Given the description of an element on the screen output the (x, y) to click on. 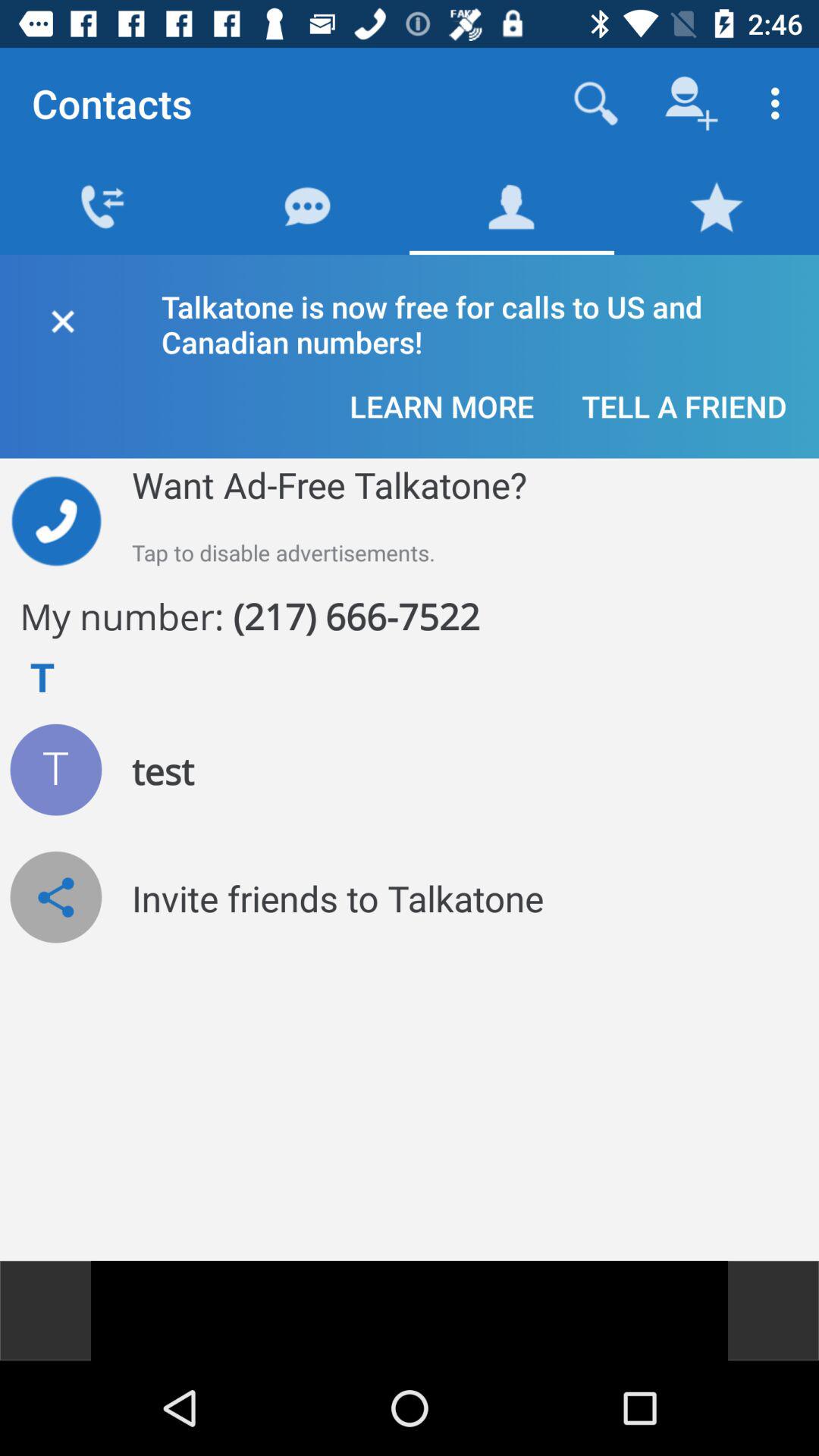
show test number details (55, 769)
